Given the description of an element on the screen output the (x, y) to click on. 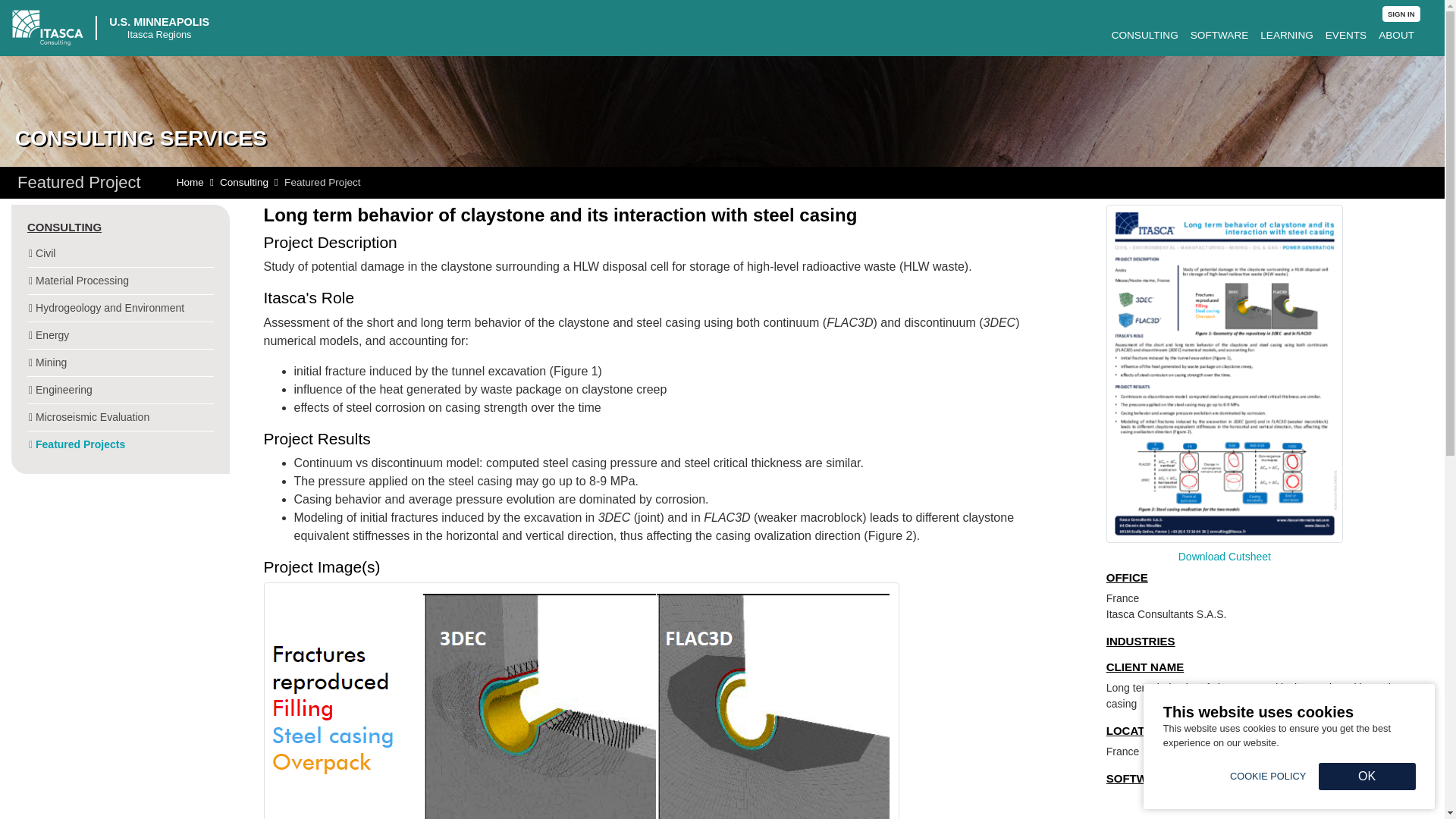
SIGN IN (1401, 13)
CONSULTING (1145, 35)
OK (1367, 776)
